Given the description of an element on the screen output the (x, y) to click on. 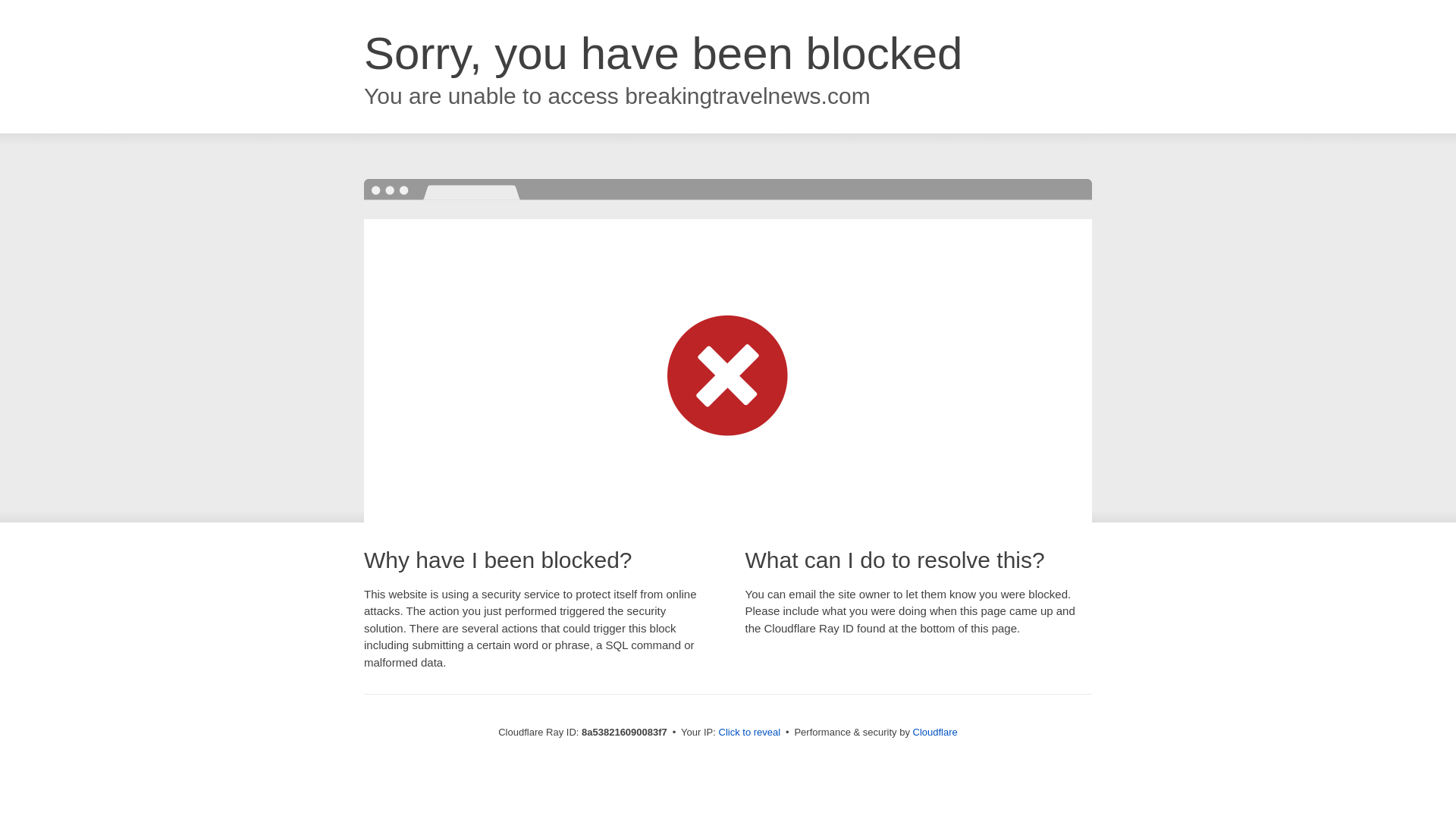
Click to reveal (749, 732)
Cloudflare (935, 731)
